Given the description of an element on the screen output the (x, y) to click on. 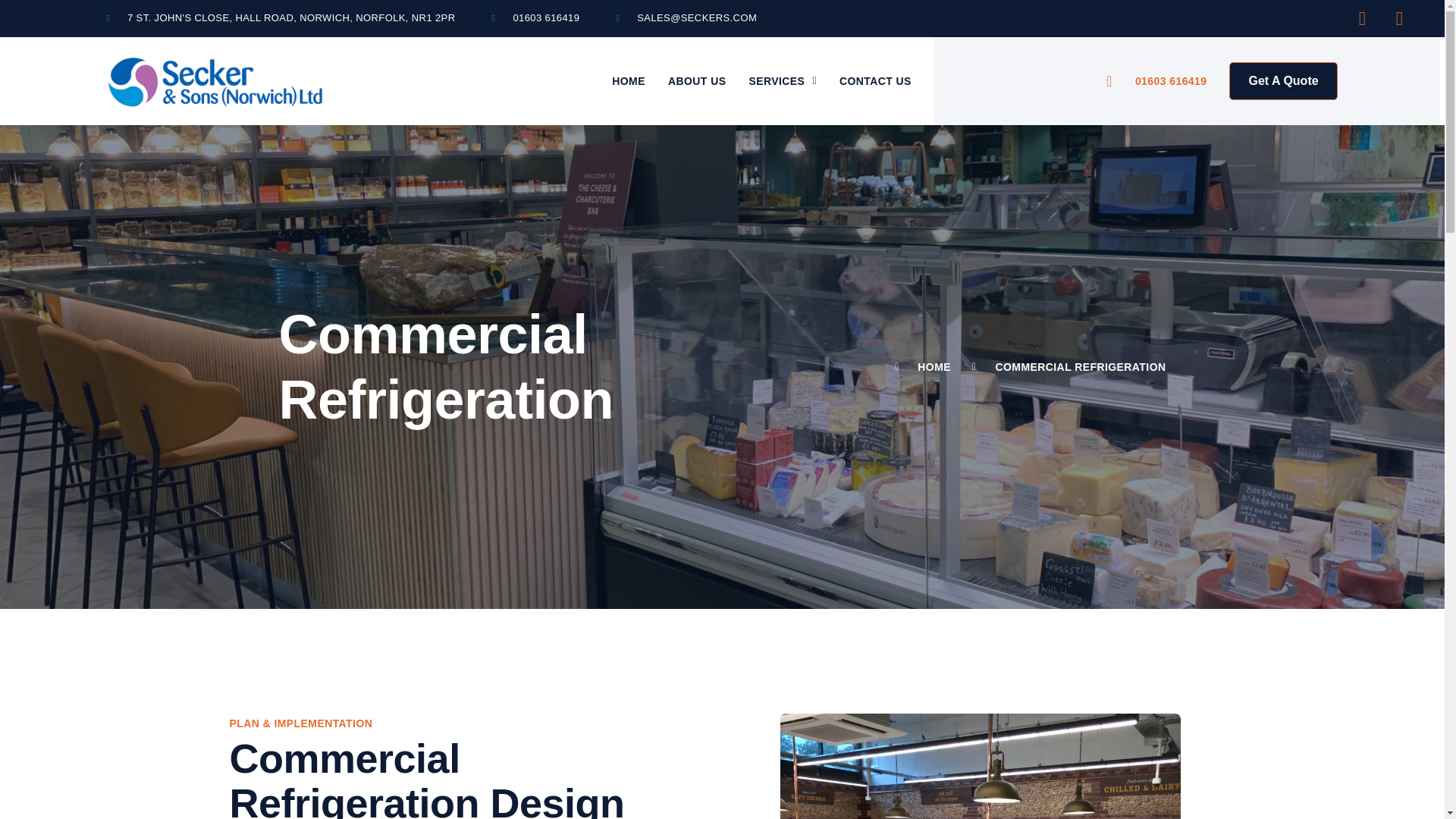
CONTACT US (875, 80)
ABOUT US (696, 80)
Get A Quote (1282, 80)
SERVICES (781, 80)
COMMERCIAL REFRIGERATION (1064, 366)
01603 616419 (1156, 80)
01603 616419 (535, 18)
HOME (628, 80)
